Given the description of an element on the screen output the (x, y) to click on. 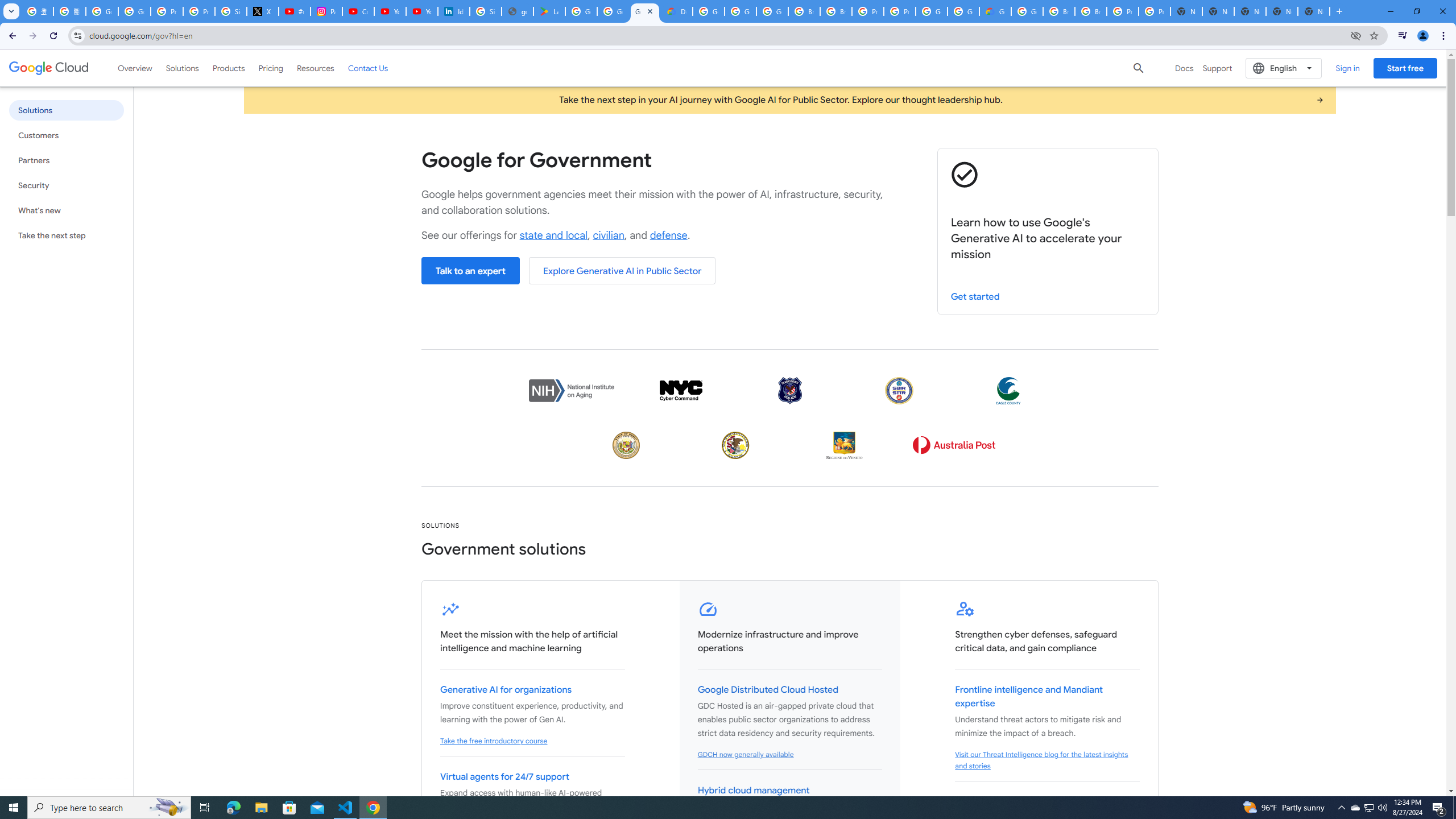
Google Cloud Platform (931, 11)
Sign in - Google Accounts (485, 11)
Start free (1405, 67)
Partners (65, 159)
Regione Veneto (844, 445)
Pricing (270, 67)
Sign in - Google Accounts (230, 11)
Clarkstown Police (789, 390)
Government | Google Cloud (644, 11)
Frontline intelligence and Mandiant expertise (1029, 696)
Support (1216, 67)
